Given the description of an element on the screen output the (x, y) to click on. 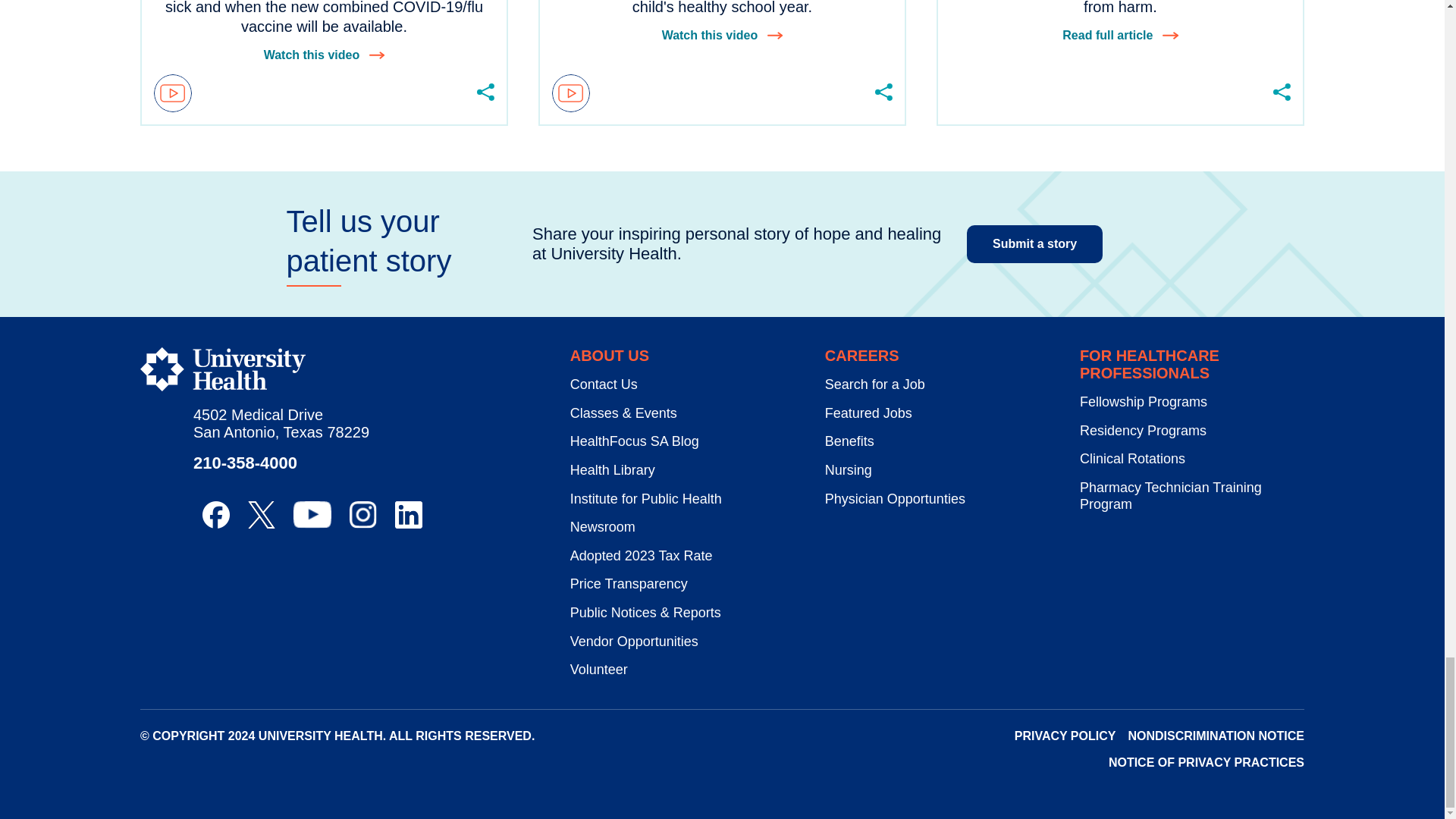
Find us on X (260, 514)
Find us on LinkedIn (407, 514)
210-358-4000 (245, 463)
Find us on Facebook (215, 514)
Submit a story (1034, 243)
Read full article (1119, 34)
Find us on YouTube (311, 514)
Watch this video (324, 54)
Find us on Instagram (362, 514)
Watch this video (722, 34)
